Given the description of an element on the screen output the (x, y) to click on. 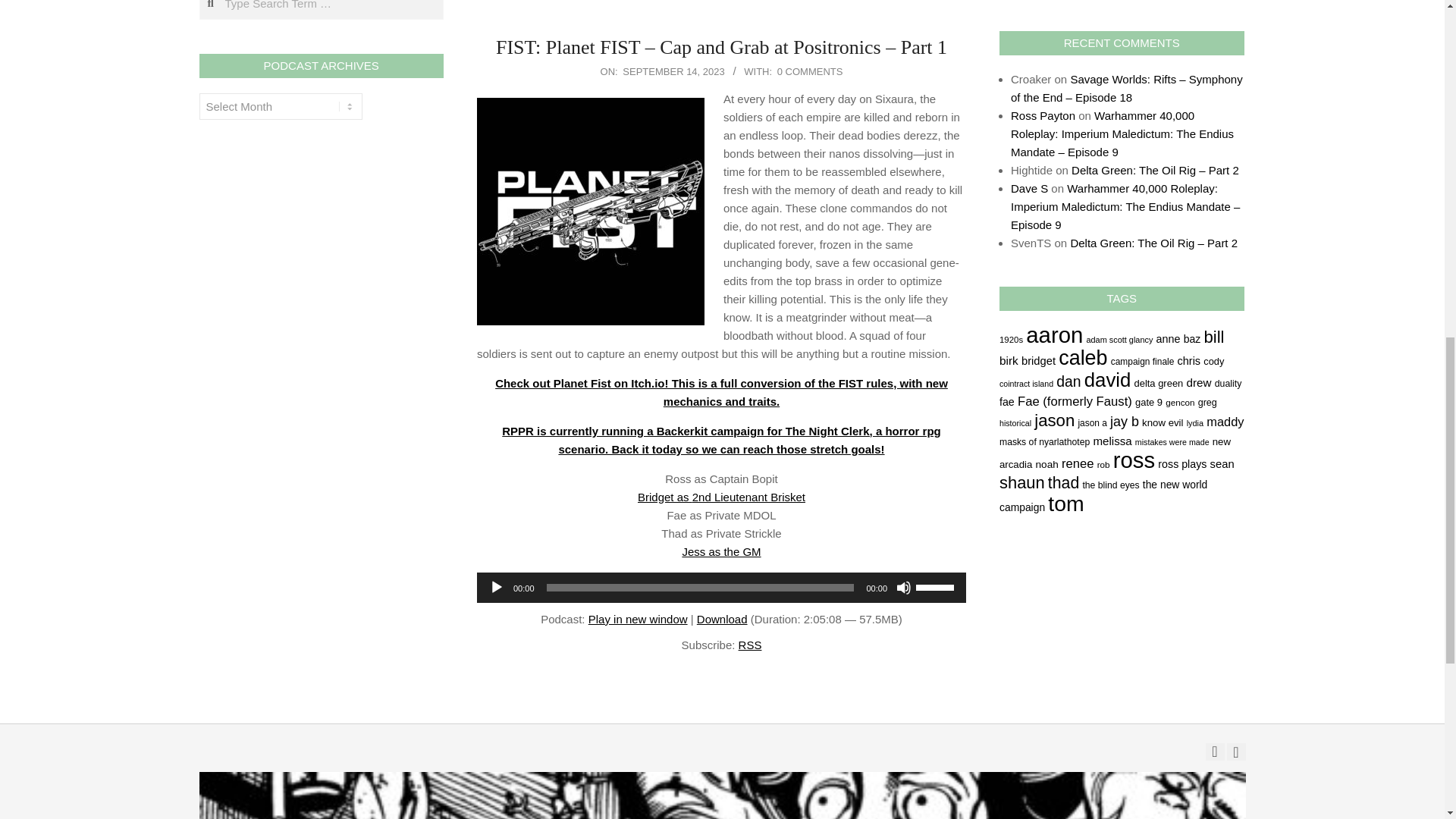
RSS (749, 644)
Thursday, September 14, 2023, 12:49 pm (673, 71)
0 COMMENTS (810, 71)
Download (722, 618)
Jess as the GM (720, 551)
Mute (903, 587)
Play in new window (637, 618)
Download (722, 618)
Bridget as 2nd Lieutenant Brisket (721, 496)
